Given the description of an element on the screen output the (x, y) to click on. 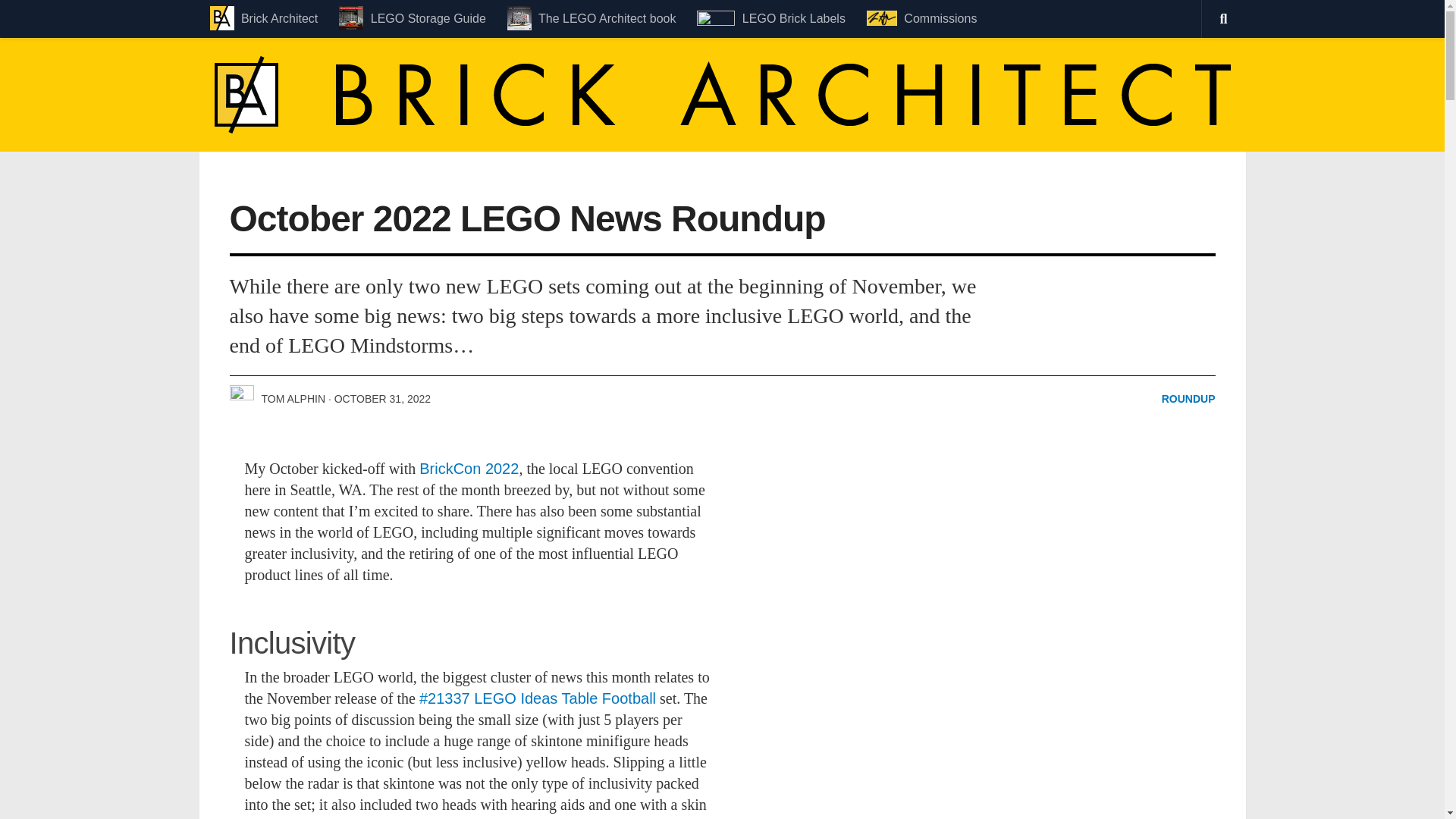
LEGO Brick Labels (770, 18)
BrickCon 2022 (468, 468)
TOM ALPHIN (292, 398)
Explore the world of architecture using LEGO. (591, 18)
Commissions (921, 18)
LEGO Storage Guide (412, 18)
Posts by Tom Alphin (292, 398)
The LEGO Architect book (591, 18)
Brick Architect (263, 18)
ROUNDUP (1188, 398)
